Given the description of an element on the screen output the (x, y) to click on. 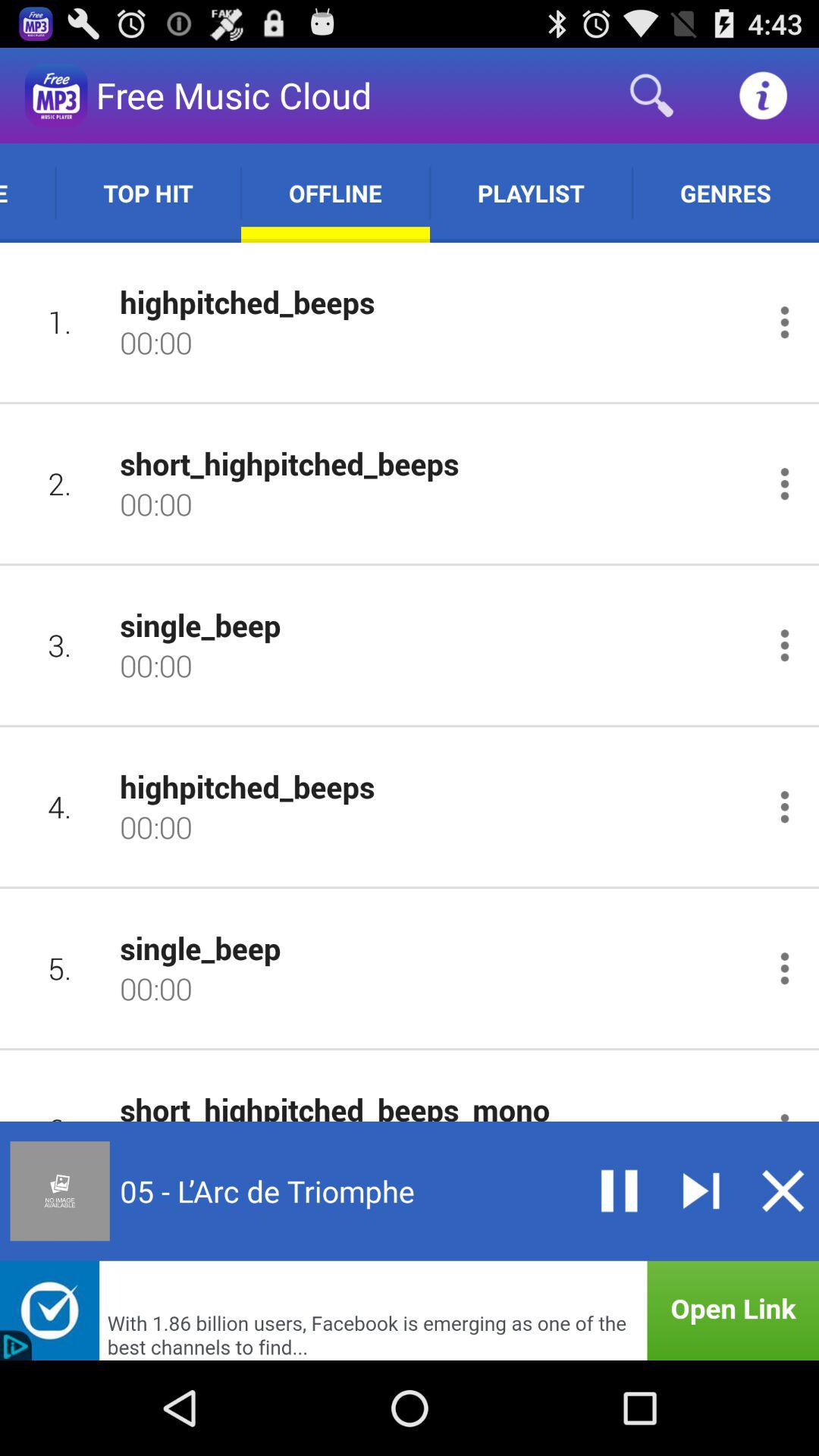
open menu for item 1 (784, 322)
